Given the description of an element on the screen output the (x, y) to click on. 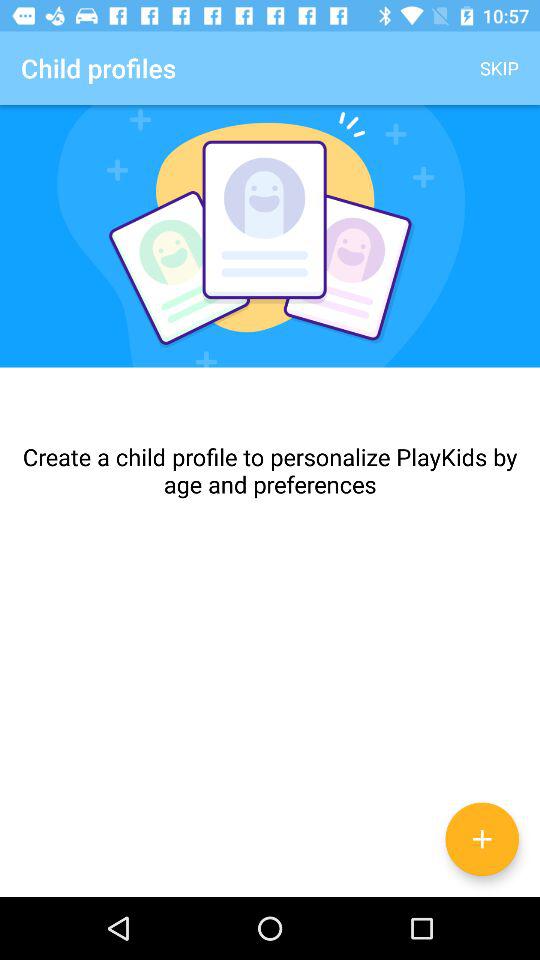
choose app to the right of child profiles app (499, 67)
